Given the description of an element on the screen output the (x, y) to click on. 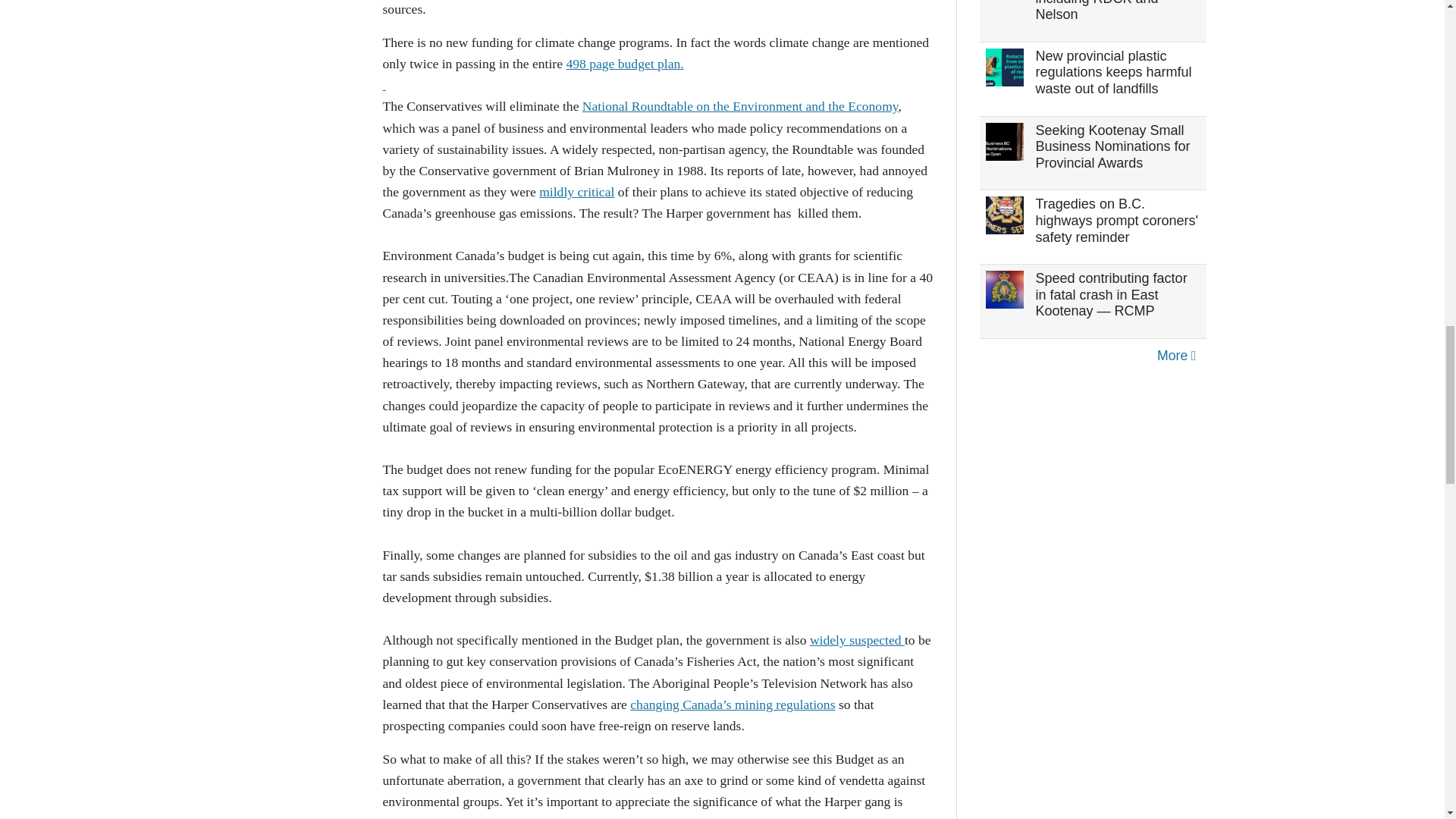
widely suspected (856, 639)
mildly critical (576, 191)
National Roundtable on the Environment and the Economy (740, 105)
498 page budget plan (622, 63)
